Given the description of an element on the screen output the (x, y) to click on. 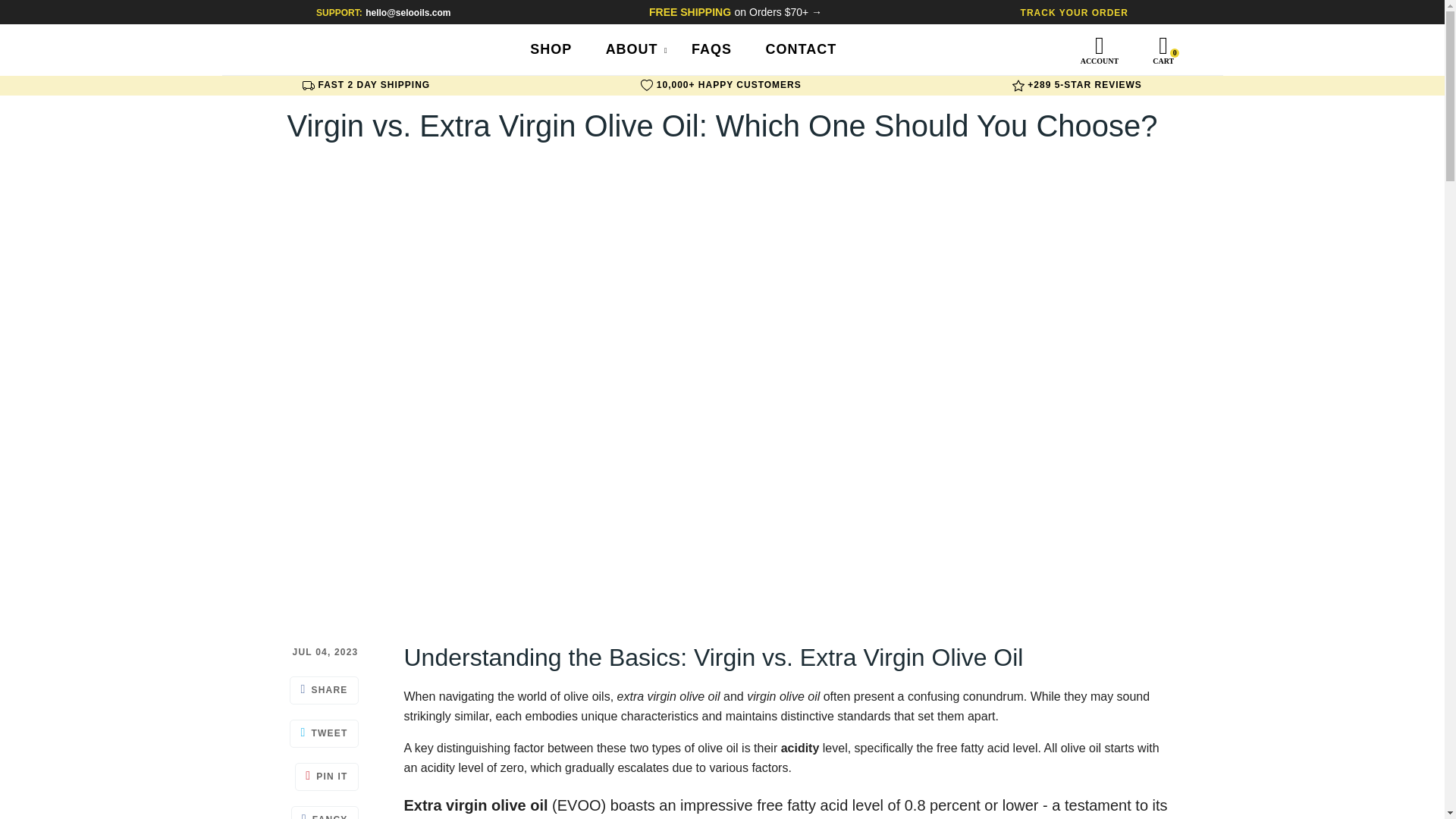
TRACK YOUR ORDER (1074, 12)
ABOUT (631, 49)
CONTACT (801, 48)
FANCY (324, 812)
TWEET (323, 733)
FAQS (711, 48)
ACCOUNT (1099, 60)
PIN IT (326, 776)
SHOP (550, 48)
SHARE (323, 690)
